Given the description of an element on the screen output the (x, y) to click on. 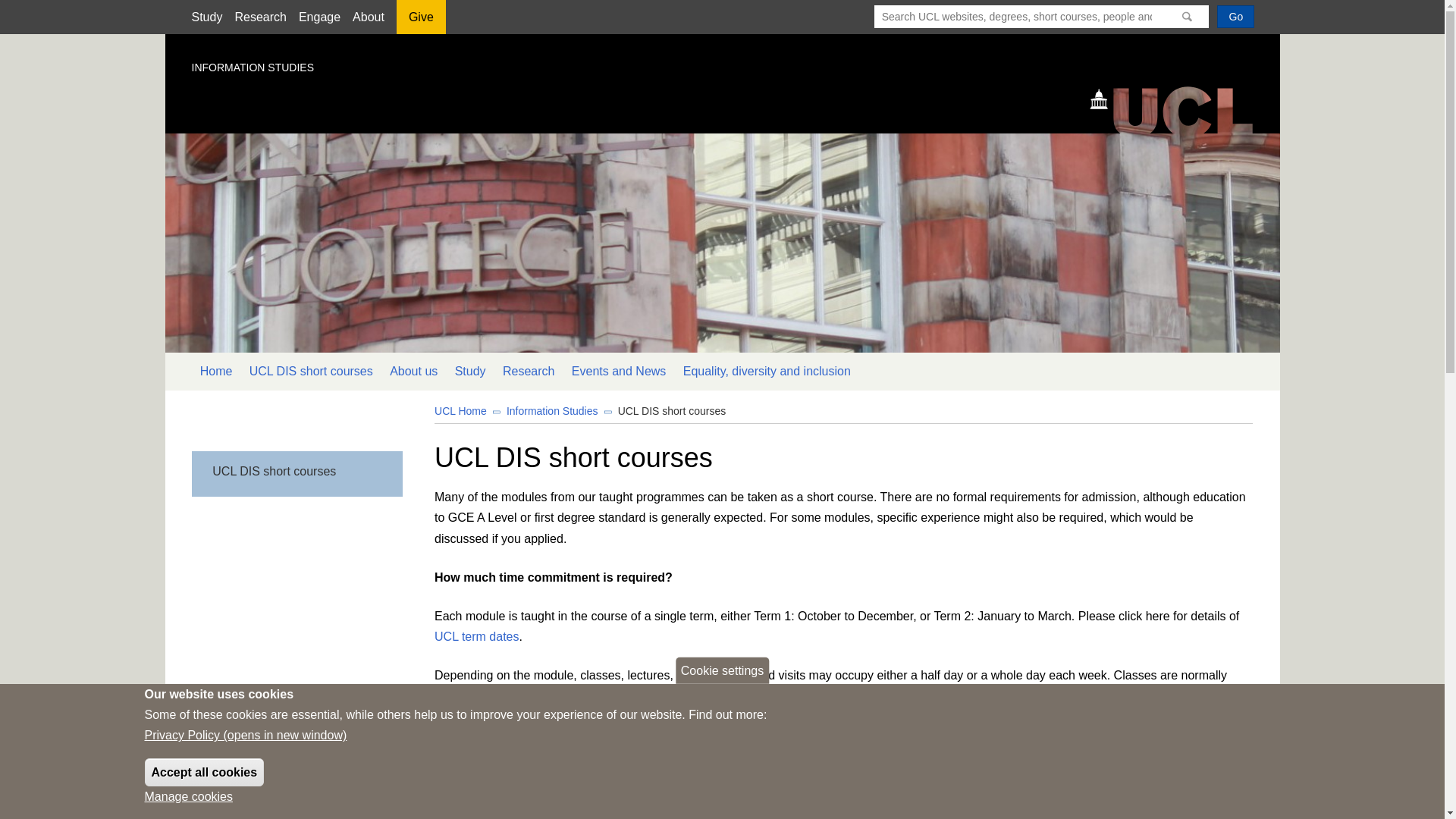
Equality, diversity and inclusion (767, 371)
Go (1235, 15)
About (368, 16)
Events and News (619, 371)
Go (1235, 15)
Study (469, 371)
Give (420, 22)
Study (206, 16)
Home (1178, 108)
UCL DIS short courses (311, 371)
Go (1235, 15)
UCL DIS short courses (671, 410)
Engage (319, 16)
UCL DIS short courses (295, 472)
Information Studies (552, 410)
